Given the description of an element on the screen output the (x, y) to click on. 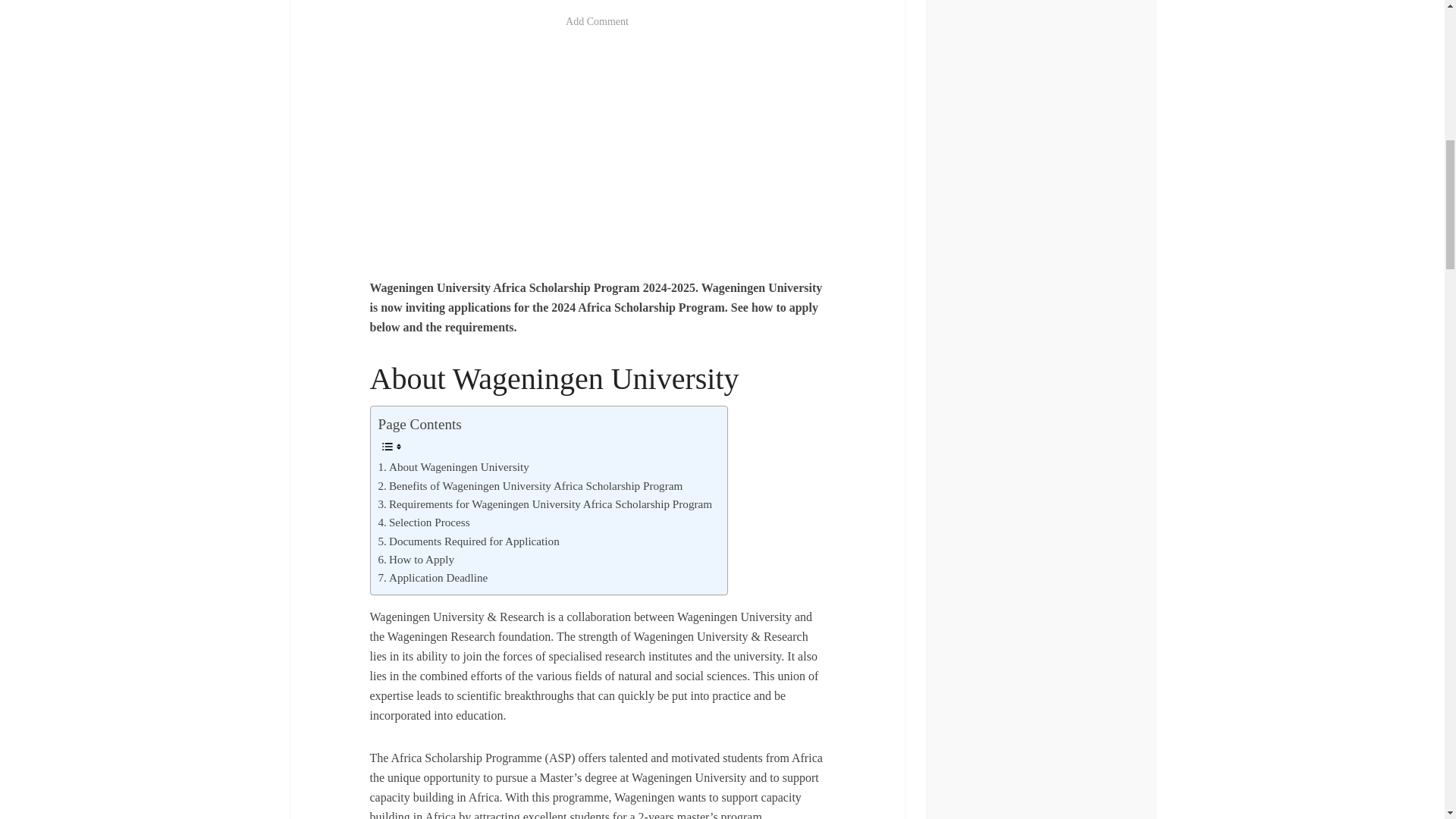
Application Deadline (432, 577)
About Wageningen University (452, 466)
About Wageningen University (452, 466)
Benefits of Wageningen University Africa Scholarship Program (529, 485)
How to Apply (415, 559)
Benefits of Wageningen University Africa Scholarship Program (529, 485)
How to Apply (415, 559)
Selection Process (422, 522)
